Given the description of an element on the screen output the (x, y) to click on. 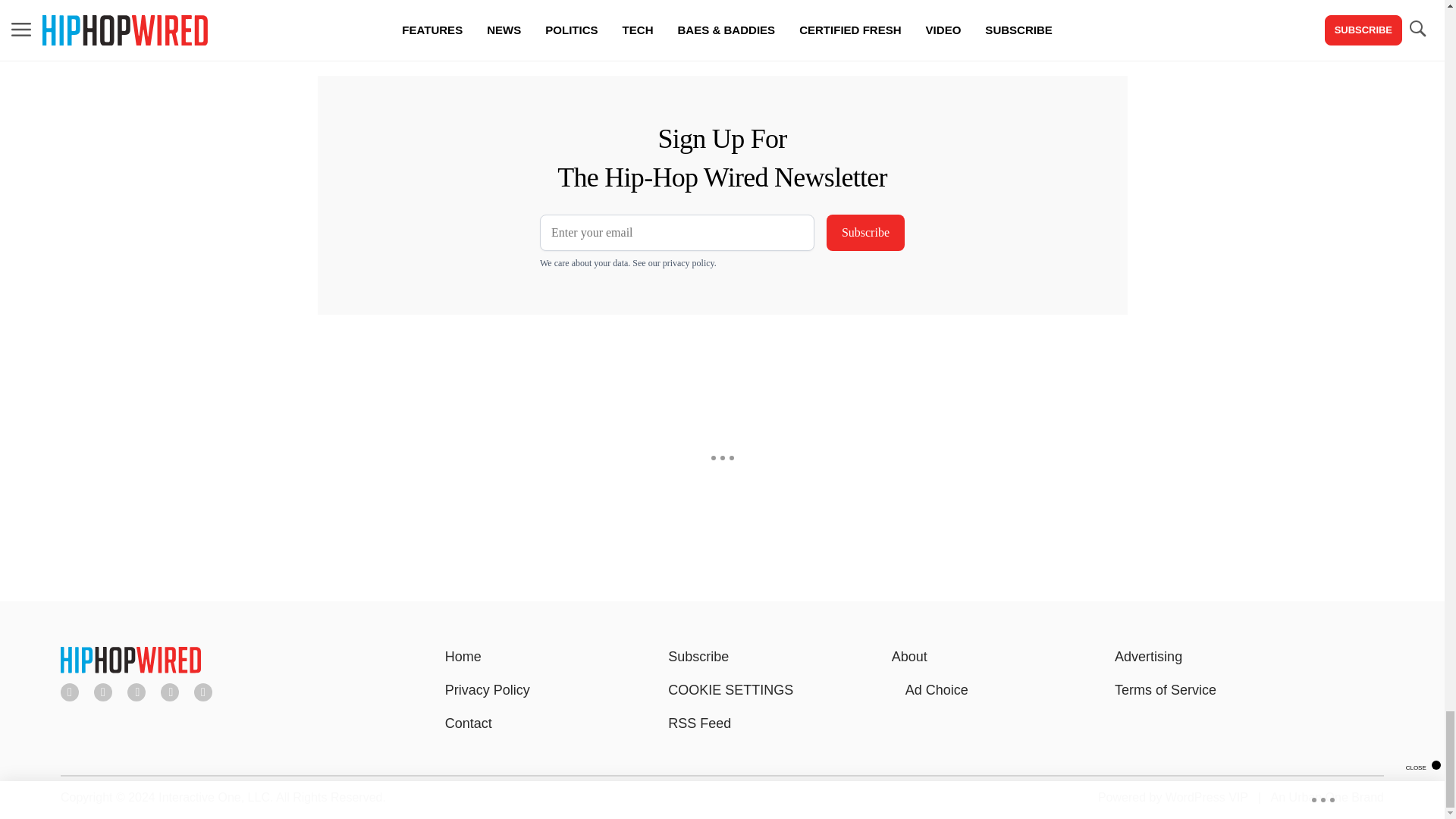
Load More (240, 6)
Load More (596, 6)
